Given the description of an element on the screen output the (x, y) to click on. 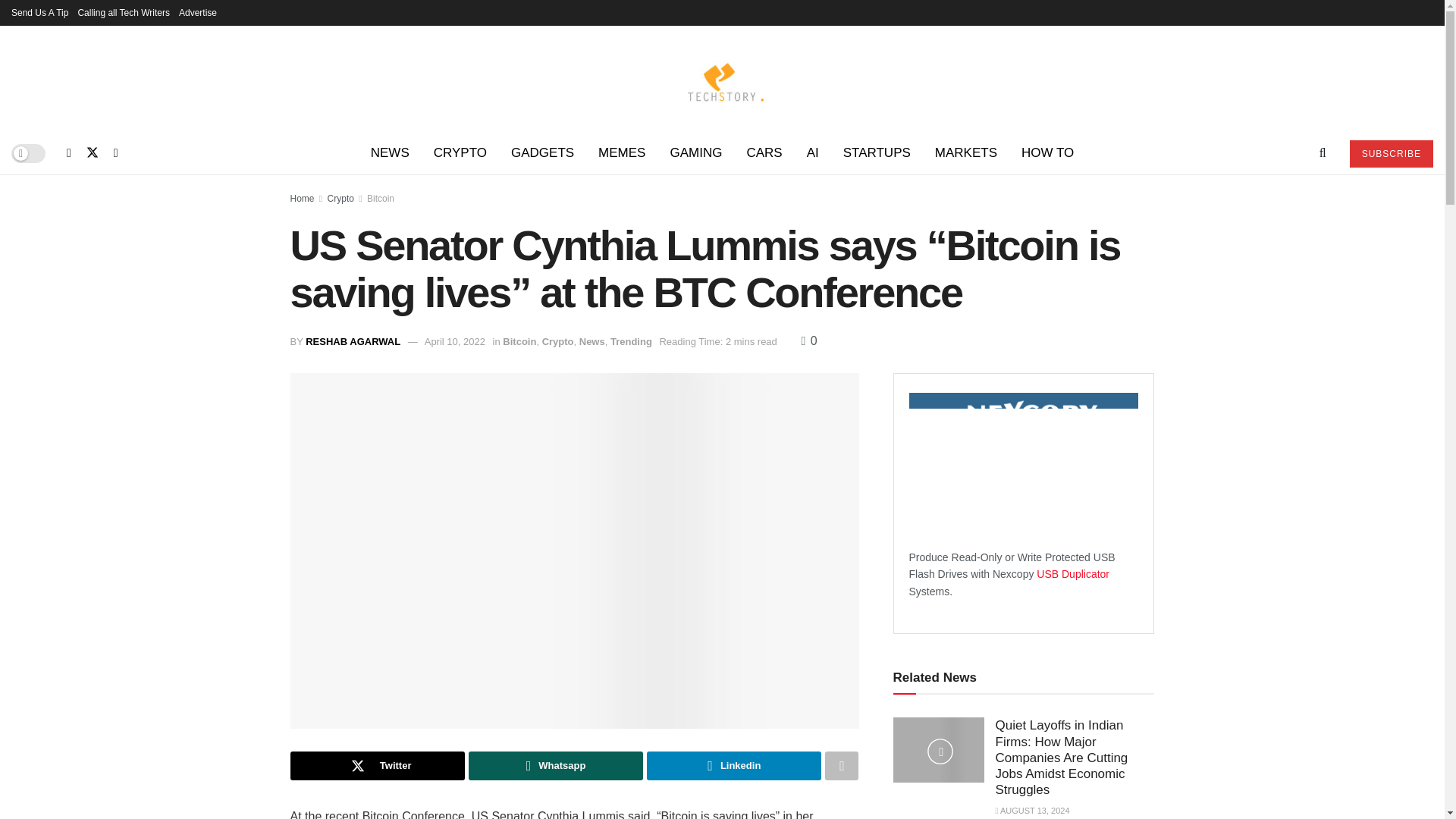
CARS (763, 152)
Advertise (197, 12)
HOW TO (1047, 152)
MARKETS (966, 152)
CRYPTO (460, 152)
Send Us A Tip (39, 12)
Crypto (340, 198)
STARTUPS (877, 152)
SUBSCRIBE (1390, 153)
USB duplicator (1072, 573)
